Given the description of an element on the screen output the (x, y) to click on. 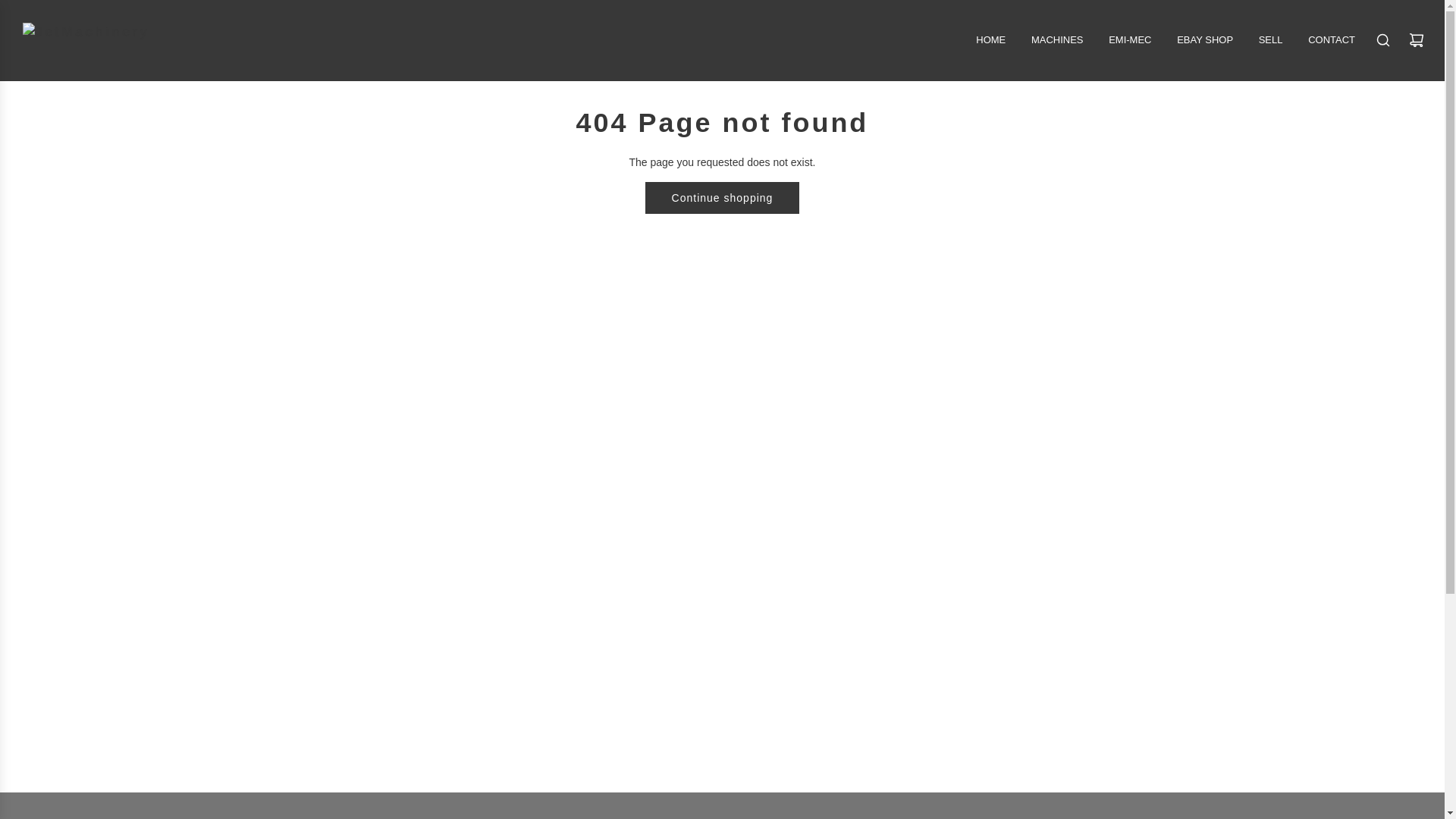
EMI-MEC (1129, 40)
EBAY SHOP (1205, 40)
HOME (989, 40)
MACHINES (1057, 40)
CONTACT (1332, 40)
SELL (1270, 40)
Continue shopping (722, 197)
